Given the description of an element on the screen output the (x, y) to click on. 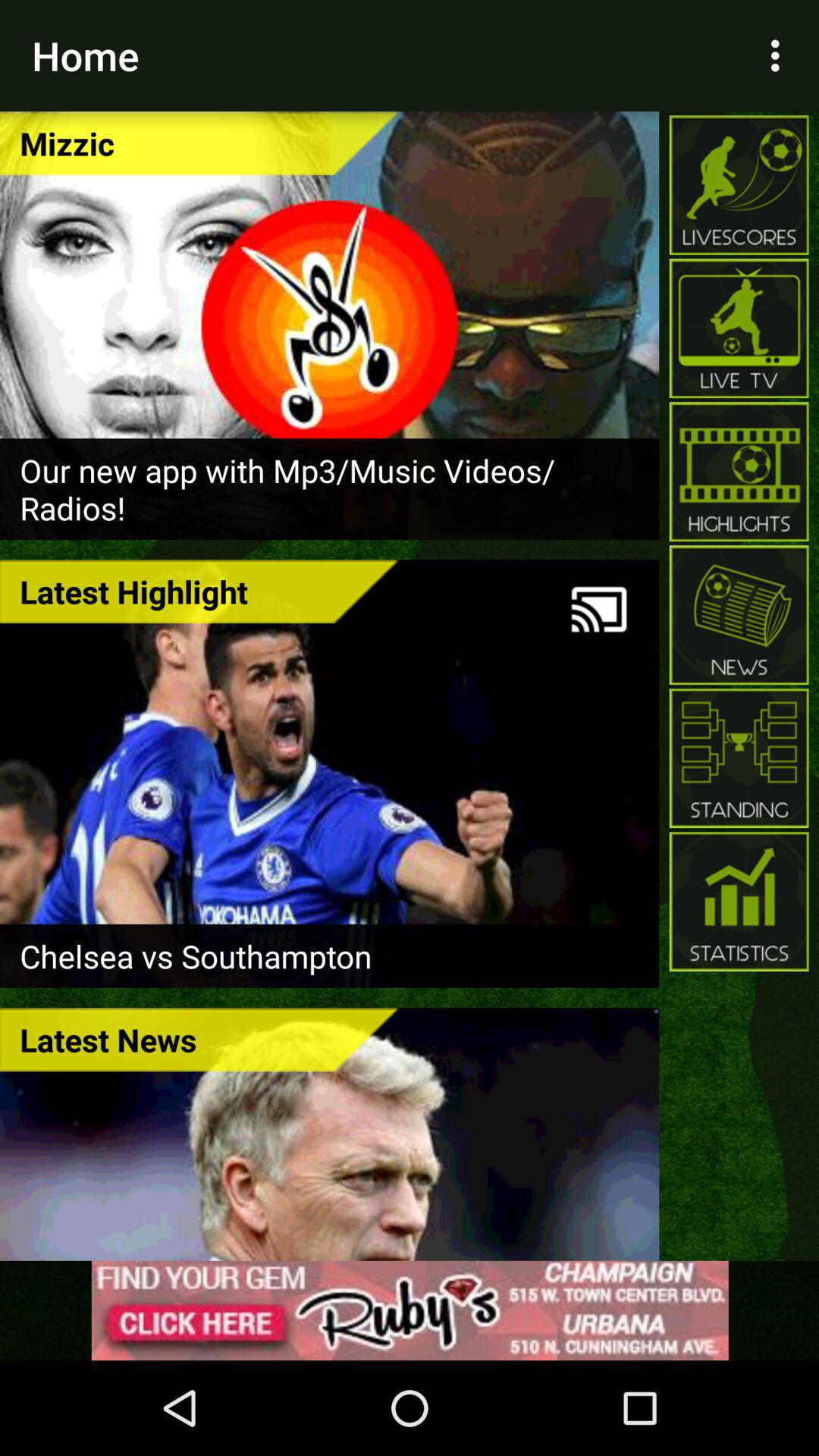
flip to the mizzic icon (199, 143)
